Given the description of an element on the screen output the (x, y) to click on. 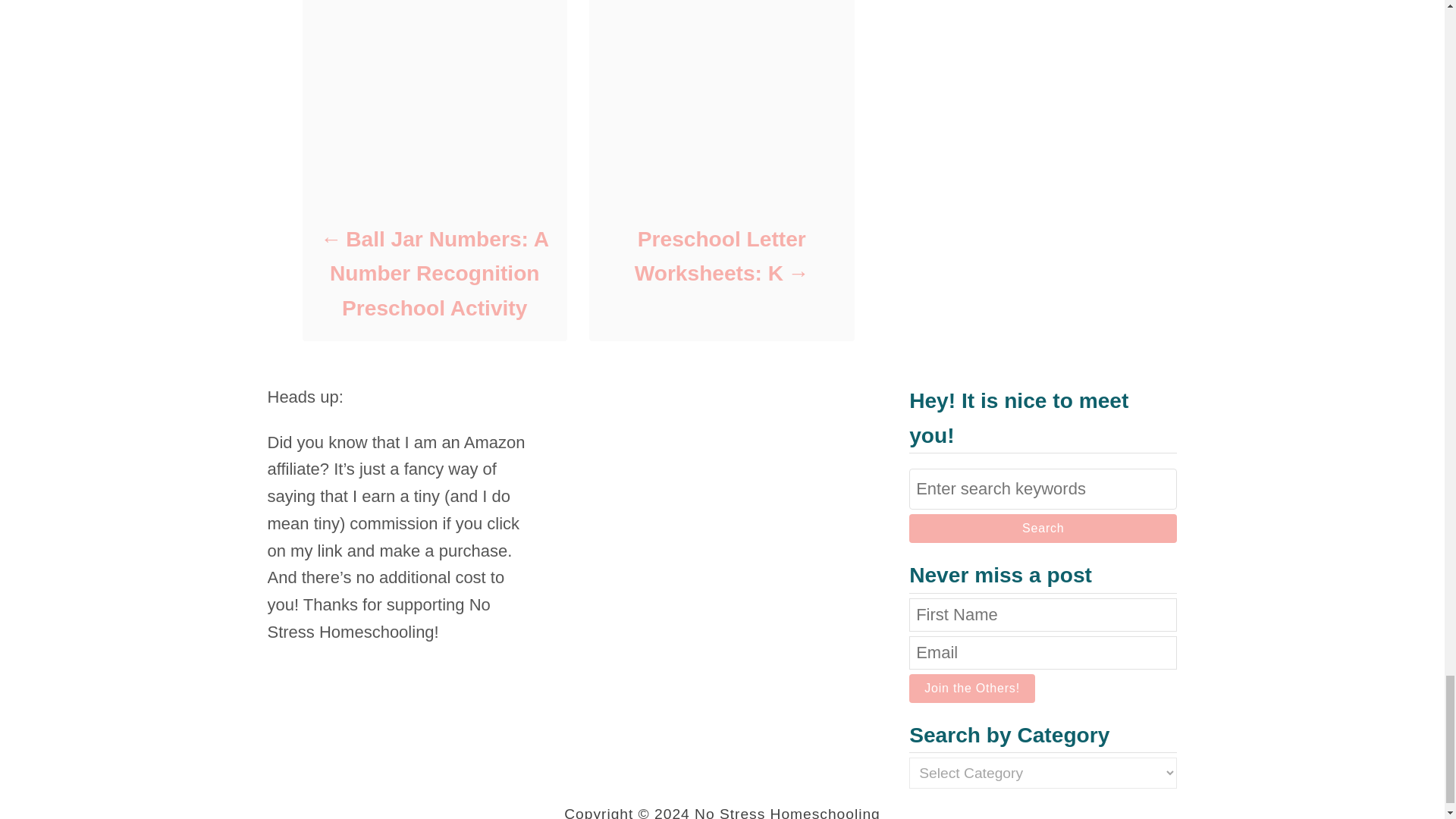
Search for: (1042, 488)
Join the Others! (971, 688)
Search (1042, 528)
Search (1042, 528)
